Given the description of an element on the screen output the (x, y) to click on. 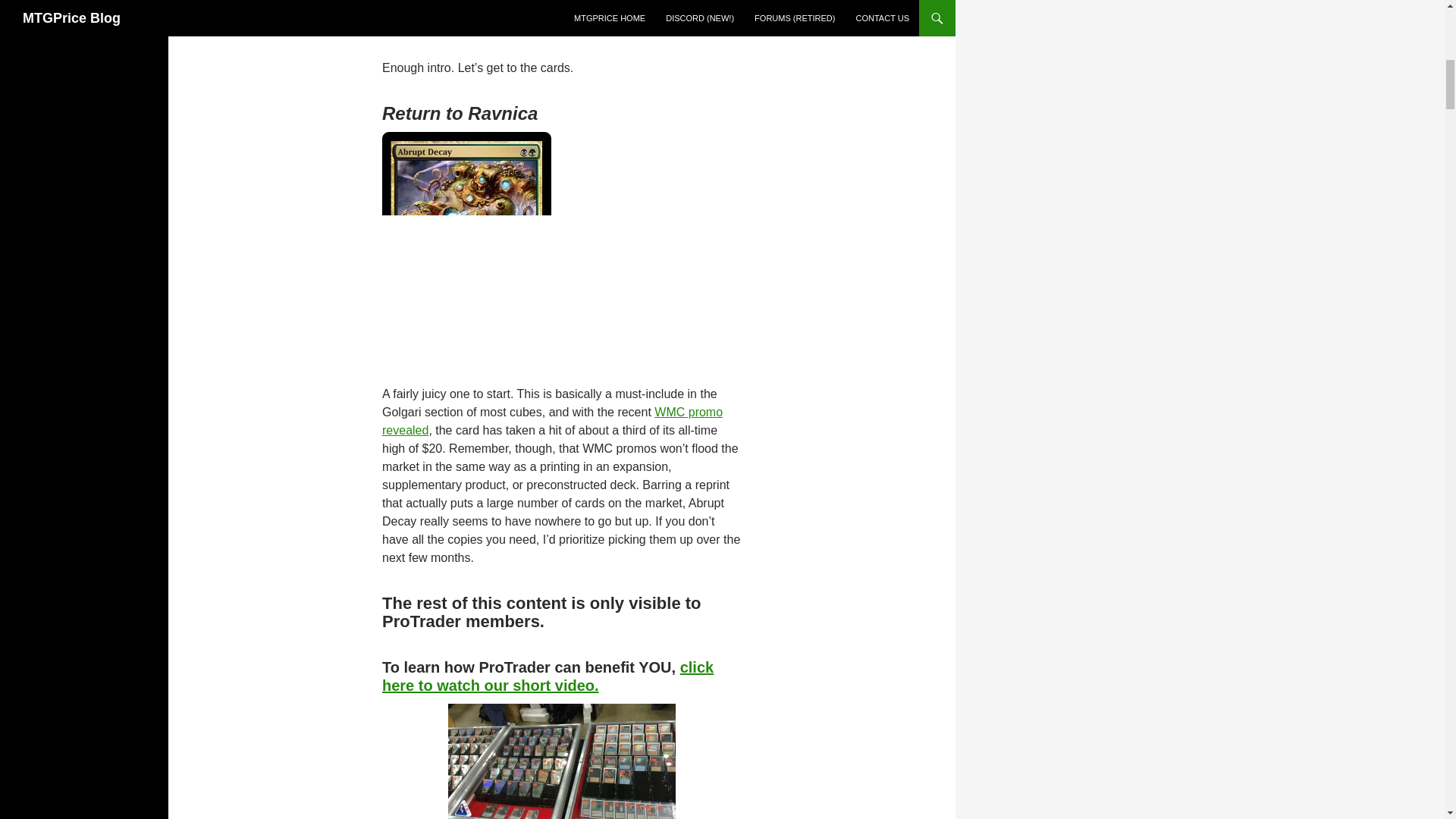
WMC promo revealed (551, 420)
click here to watch our short video. (547, 676)
